Given the description of an element on the screen output the (x, y) to click on. 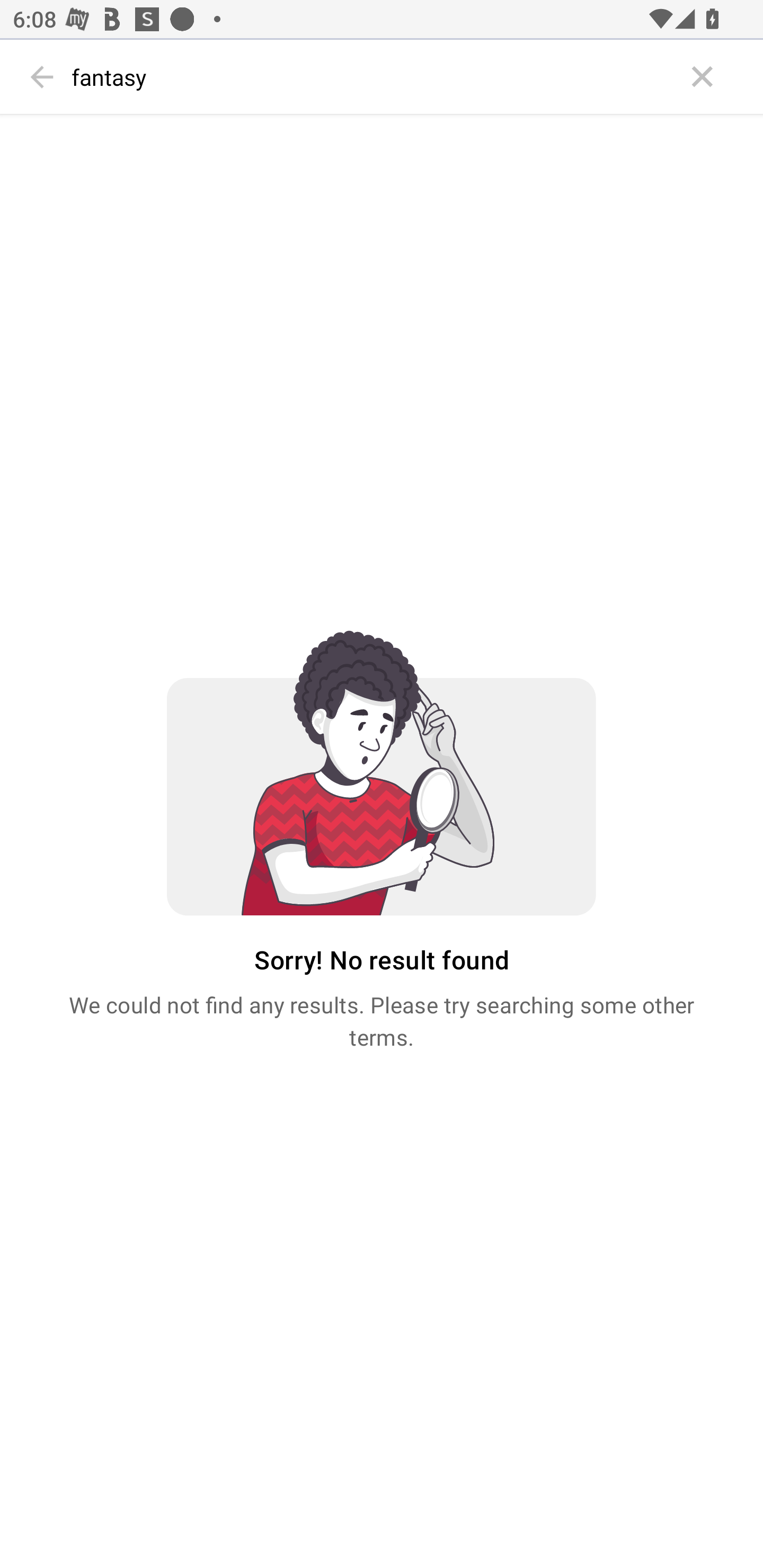
Back (42, 76)
fantasy (373, 76)
Close (702, 76)
